Given the description of an element on the screen output the (x, y) to click on. 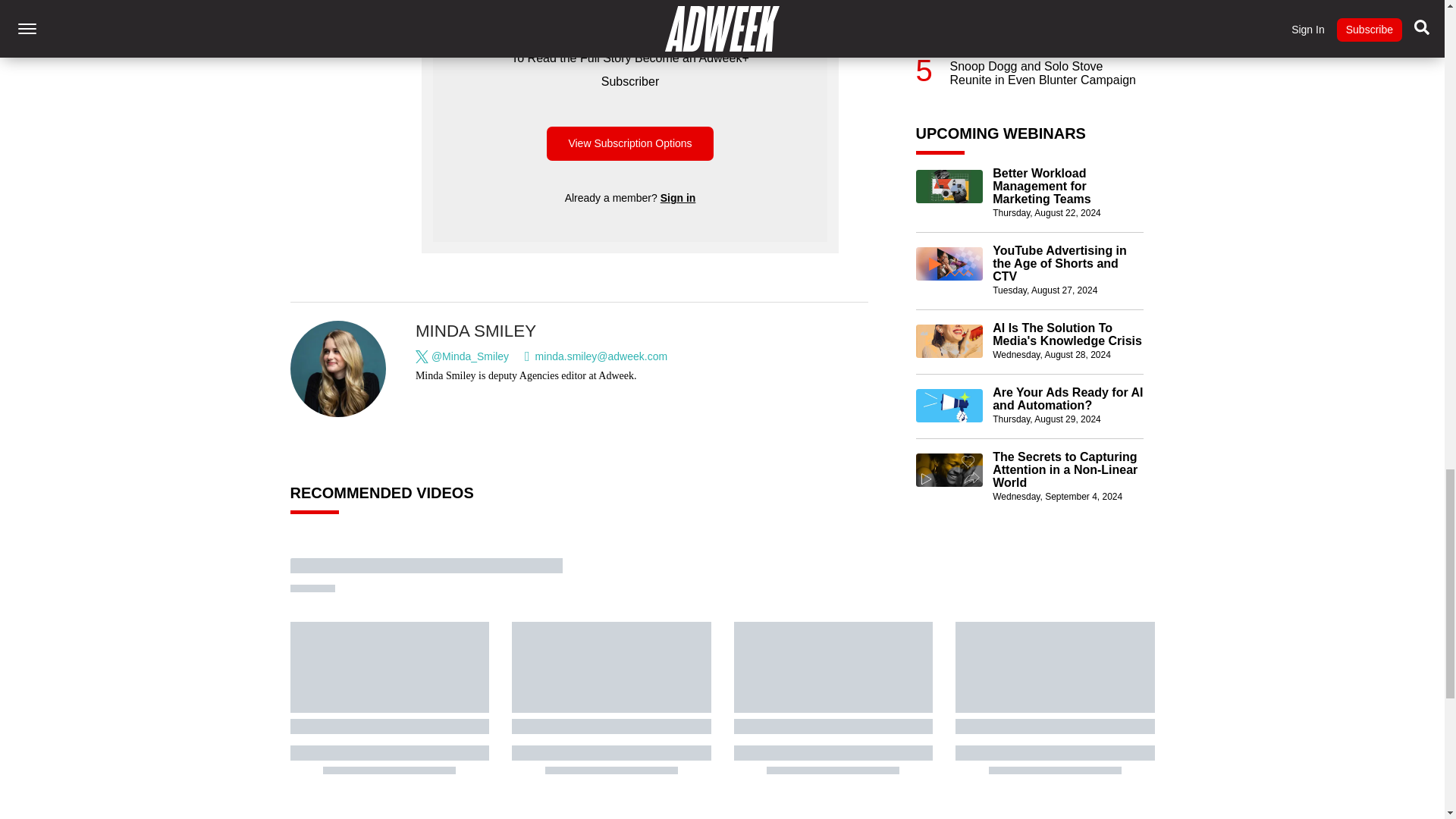
Qatalog-Webinar-082824-Header (948, 340)
minda.smiley (338, 369)
PixabilityWebinar082724Header (948, 263)
Infillion-Webinar-090424-Header (948, 469)
Celtra-Webinar-082924-Header (948, 405)
Adobe-Webinar-082224-Header (948, 186)
